Given the description of an element on the screen output the (x, y) to click on. 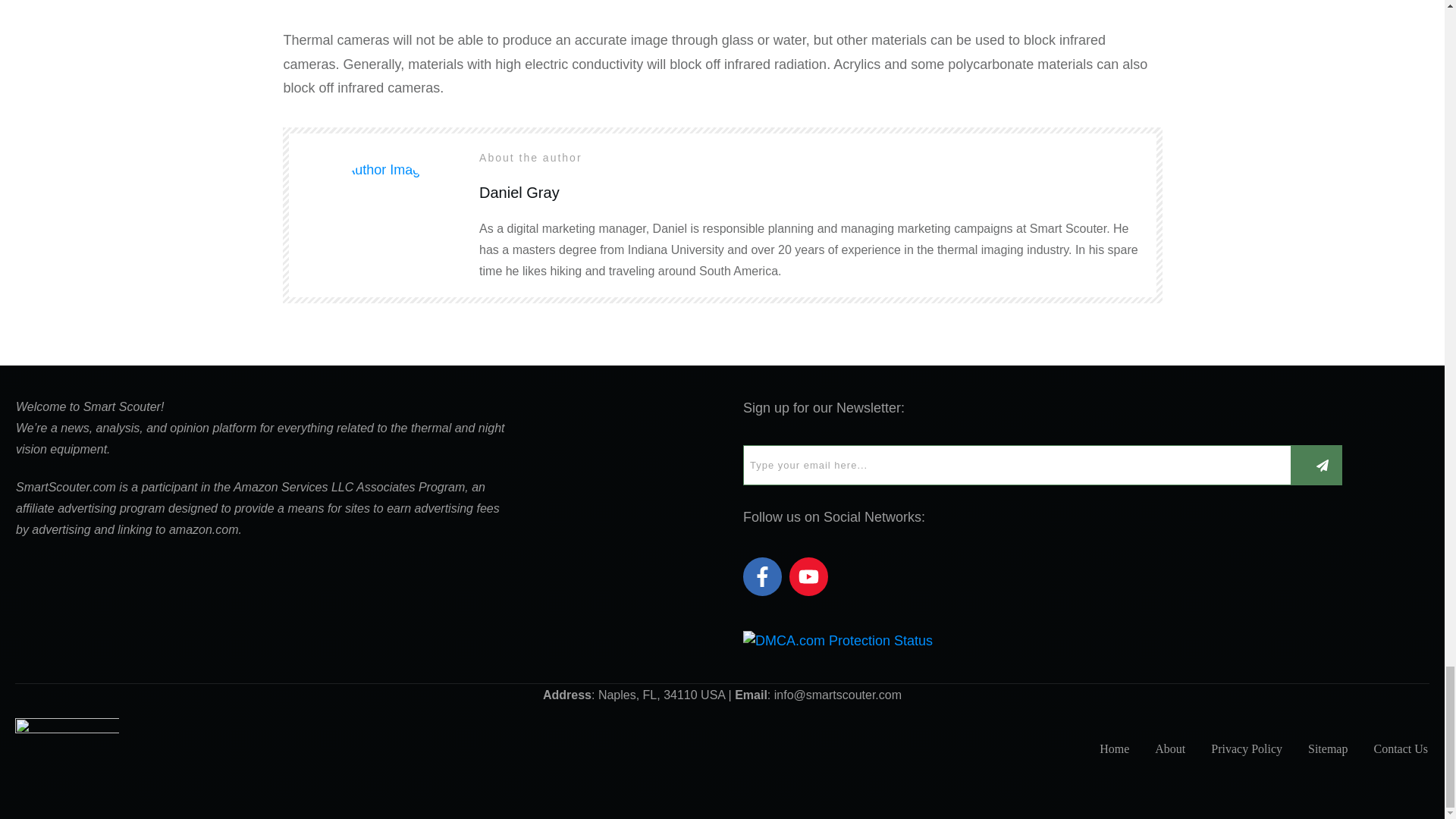
DMCA.com Protection Status (837, 640)
